Given the description of an element on the screen output the (x, y) to click on. 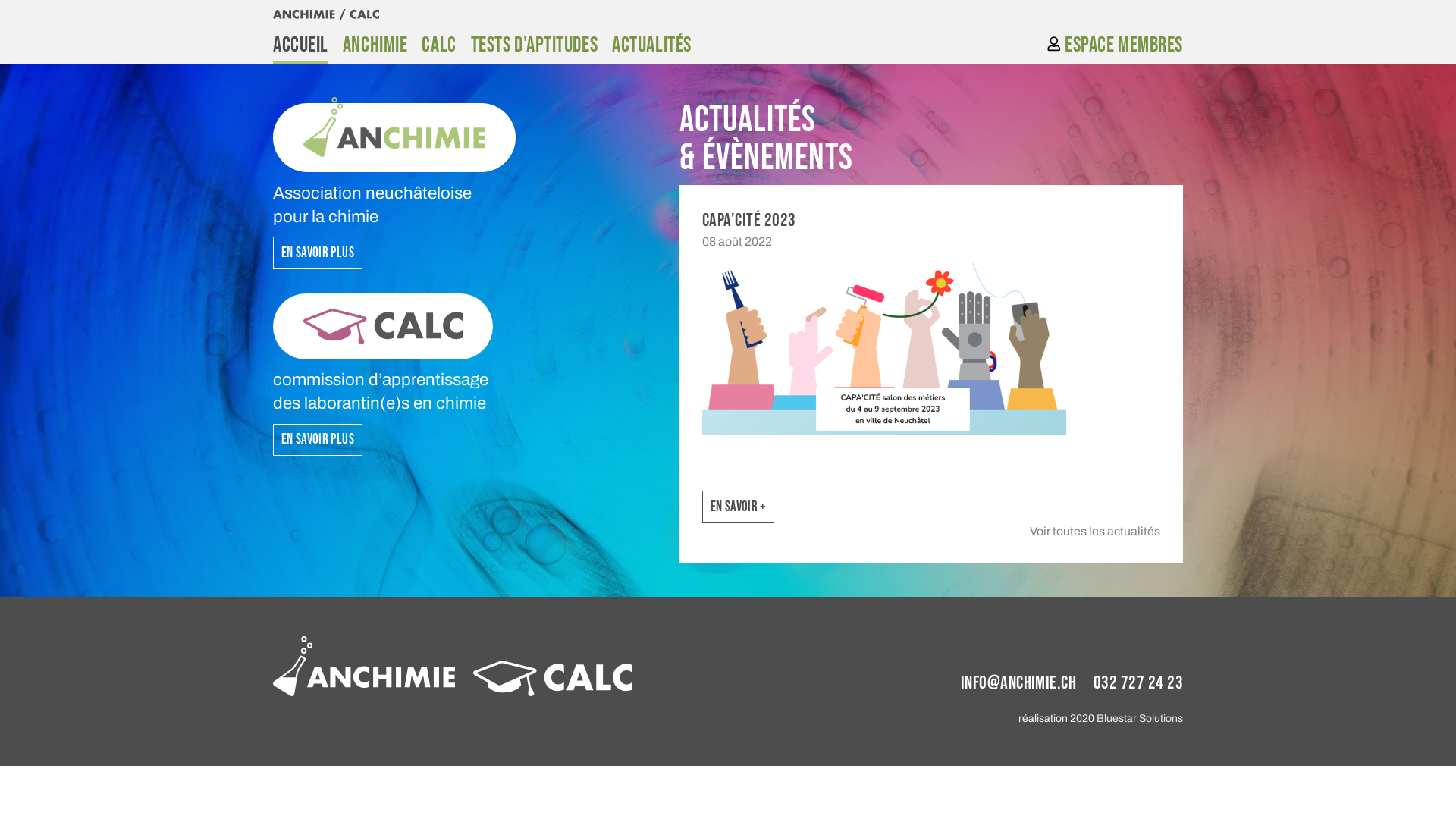
CALC Element type: text (438, 45)
info@anchimie.ch Element type: text (1018, 682)
Bluestar Solutions Element type: text (1139, 718)
En savoir plus Element type: text (317, 252)
Utilisateur Espace membres Element type: text (1114, 45)
Accueil Element type: text (300, 45)
En savoir + Element type: text (738, 506)
Aller au contenu principal Element type: text (0, 0)
En savoir plus Element type: text (317, 439)
ANChimie Element type: text (374, 45)
Tests d'aptitudes Element type: text (534, 45)
